Given the description of an element on the screen output the (x, y) to click on. 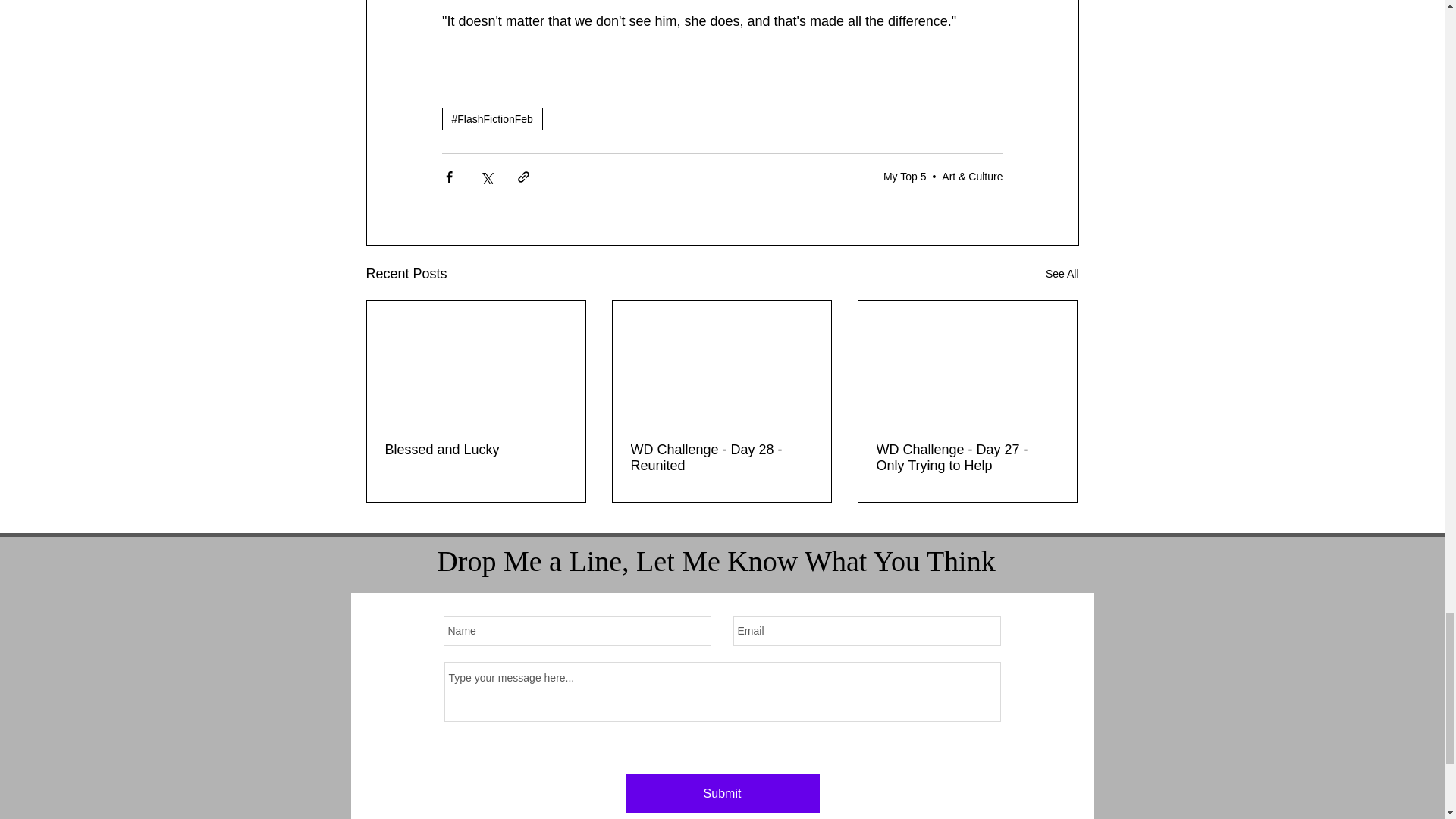
WD Challenge - Day 27 - Only Trying to Help (967, 458)
My Top 5 (904, 176)
Submit (721, 793)
Blessed and Lucky (476, 449)
WD Challenge - Day 28 - Reunited (721, 458)
See All (1061, 273)
